Given the description of an element on the screen output the (x, y) to click on. 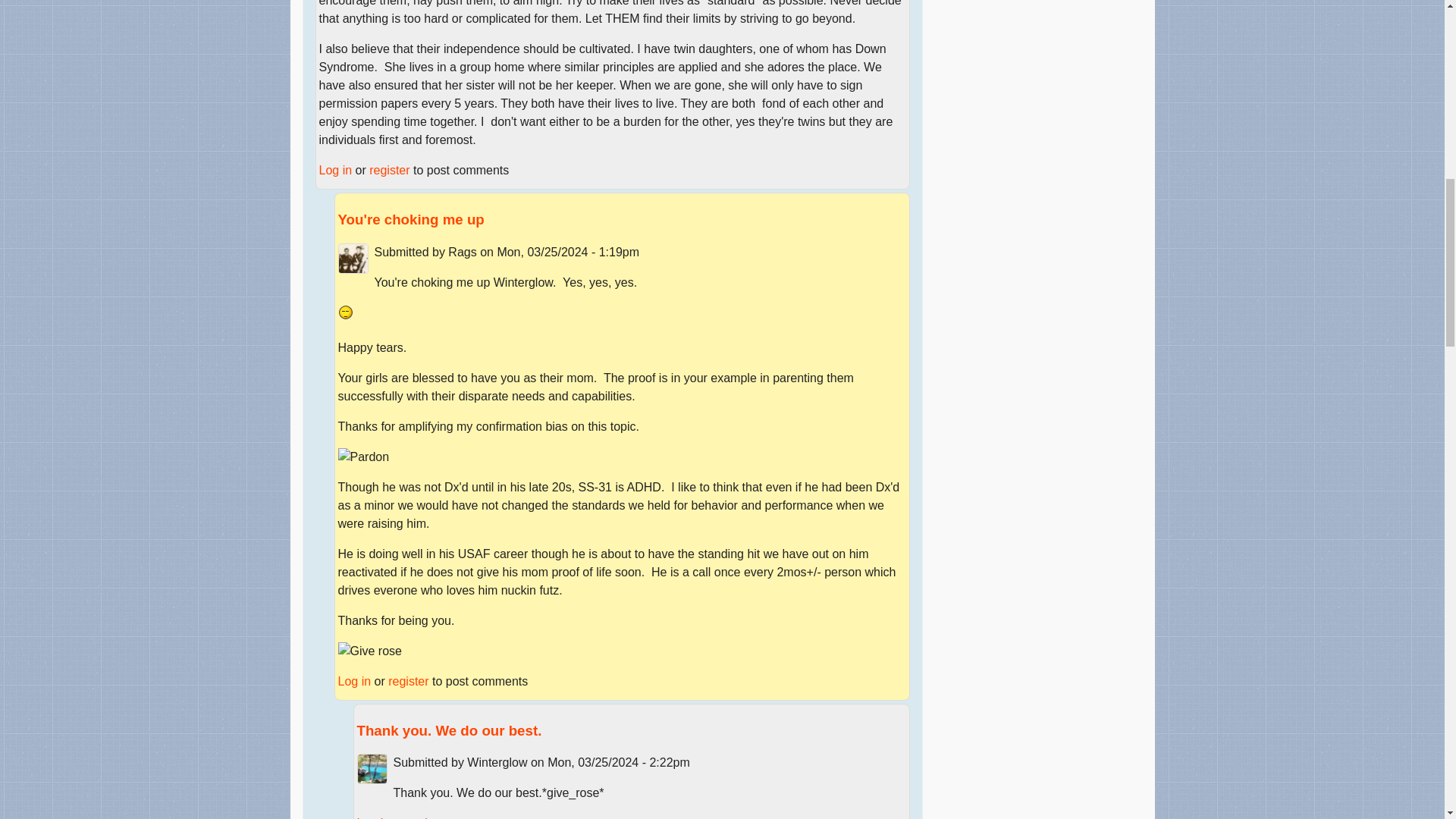
register (408, 680)
Rags's picture (352, 258)
Thank you. We do our best. (448, 730)
Log in (354, 680)
register (426, 817)
Log in (335, 169)
Log in (373, 817)
Winterglow's picture (371, 768)
You're choking me up (410, 219)
register (389, 169)
